Given the description of an element on the screen output the (x, y) to click on. 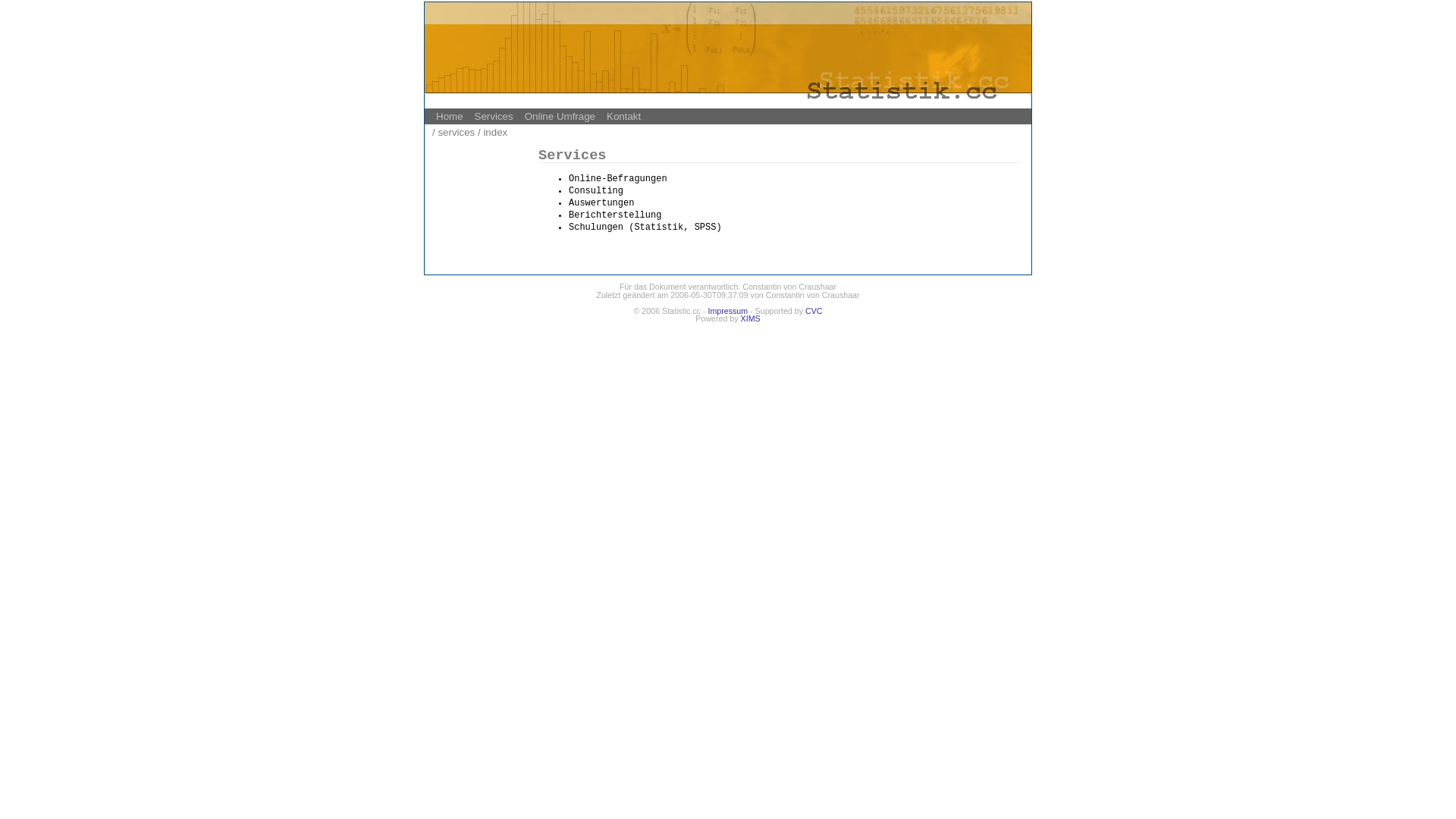
CVC Element type: text (813, 310)
Home Element type: text (449, 116)
Services Element type: text (493, 116)
XIMS Element type: text (750, 318)
Impressum Element type: text (727, 310)
Kontakt Element type: text (623, 116)
Online Umfrage Element type: text (559, 116)
index Element type: text (495, 132)
services Element type: text (455, 132)
